Given the description of an element on the screen output the (x, y) to click on. 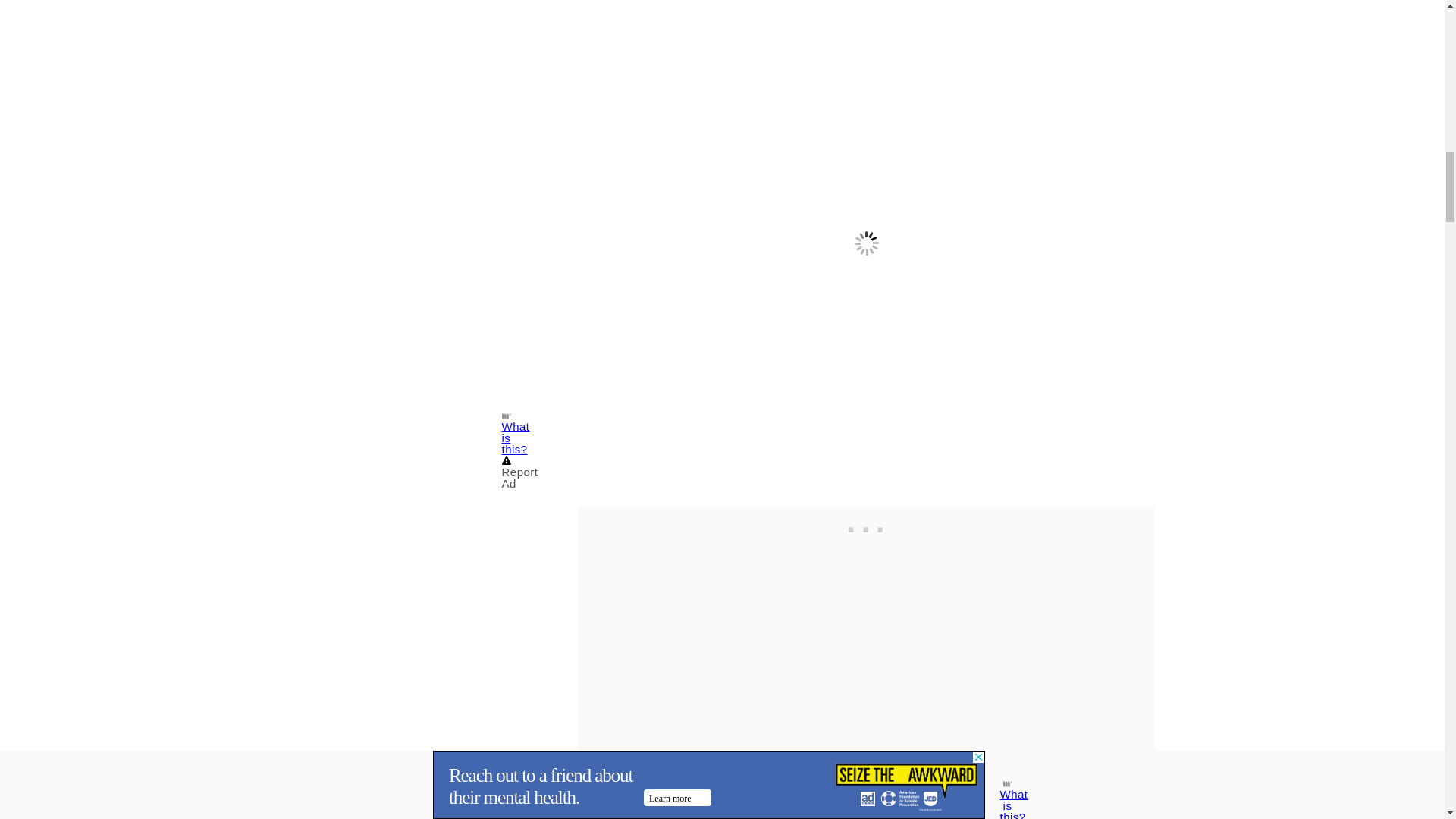
3rd party ad content (865, 525)
